Given the description of an element on the screen output the (x, y) to click on. 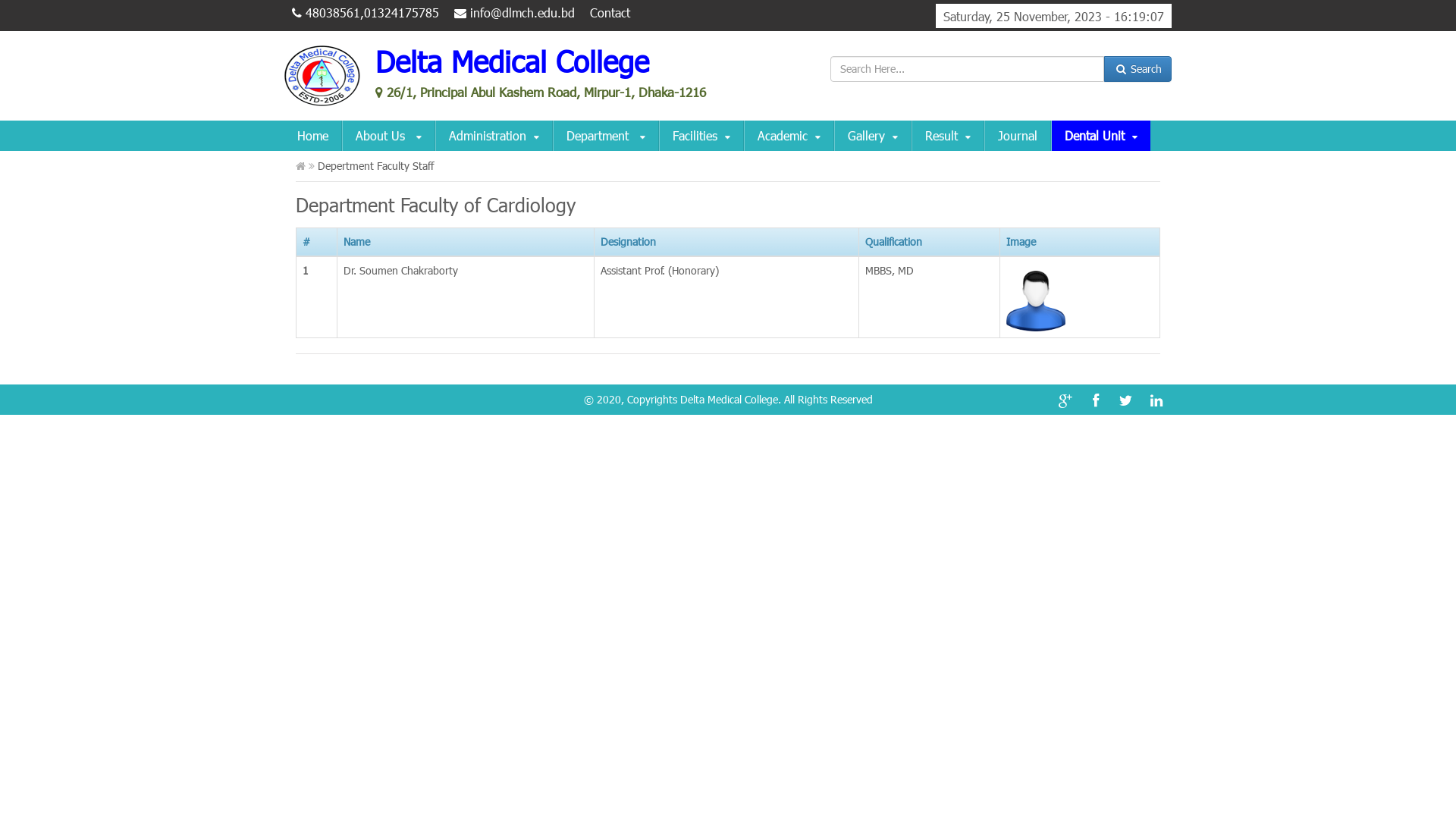
48038561,01324175785 Element type: text (365, 12)
Search Element type: text (1137, 68)
Saturday, 25 November, 2023 - 16:18:55 Element type: text (1053, 15)
Delta Medical College Element type: text (728, 399)
About Us Element type: text (388, 135)
info@dlmch.edu.bd Element type: text (514, 12)
Department Faculty of Cardiology Element type: text (435, 204)
Result Element type: text (947, 135)
Administration Element type: text (494, 135)
Facilities Element type: text (701, 135)
Journal Element type: text (1017, 135)
Home Element type: text (312, 135)
Dental Unit Element type: text (1100, 135)
Department Element type: text (605, 135)
Gallery Element type: text (872, 135)
Academic Element type: text (788, 135)
Contact Element type: text (609, 12)
